Given the description of an element on the screen output the (x, y) to click on. 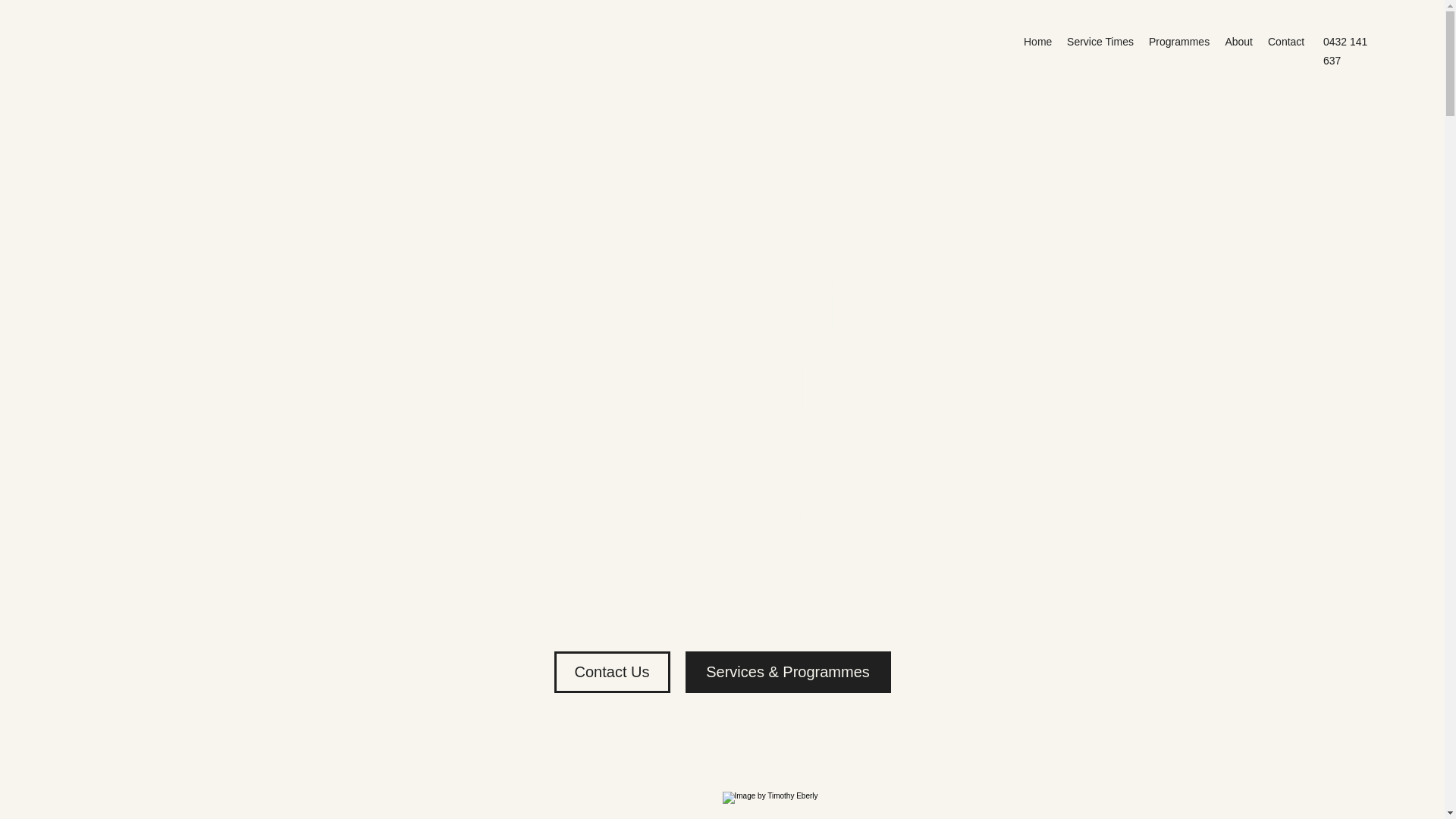
Contact Element type: text (1285, 41)
Home Element type: text (1037, 41)
Service Times Element type: text (1100, 41)
About Element type: text (1238, 41)
Services & Programmes Element type: text (788, 672)
Programmes Element type: text (1179, 41)
Contact Us Element type: text (611, 672)
